Given the description of an element on the screen output the (x, y) to click on. 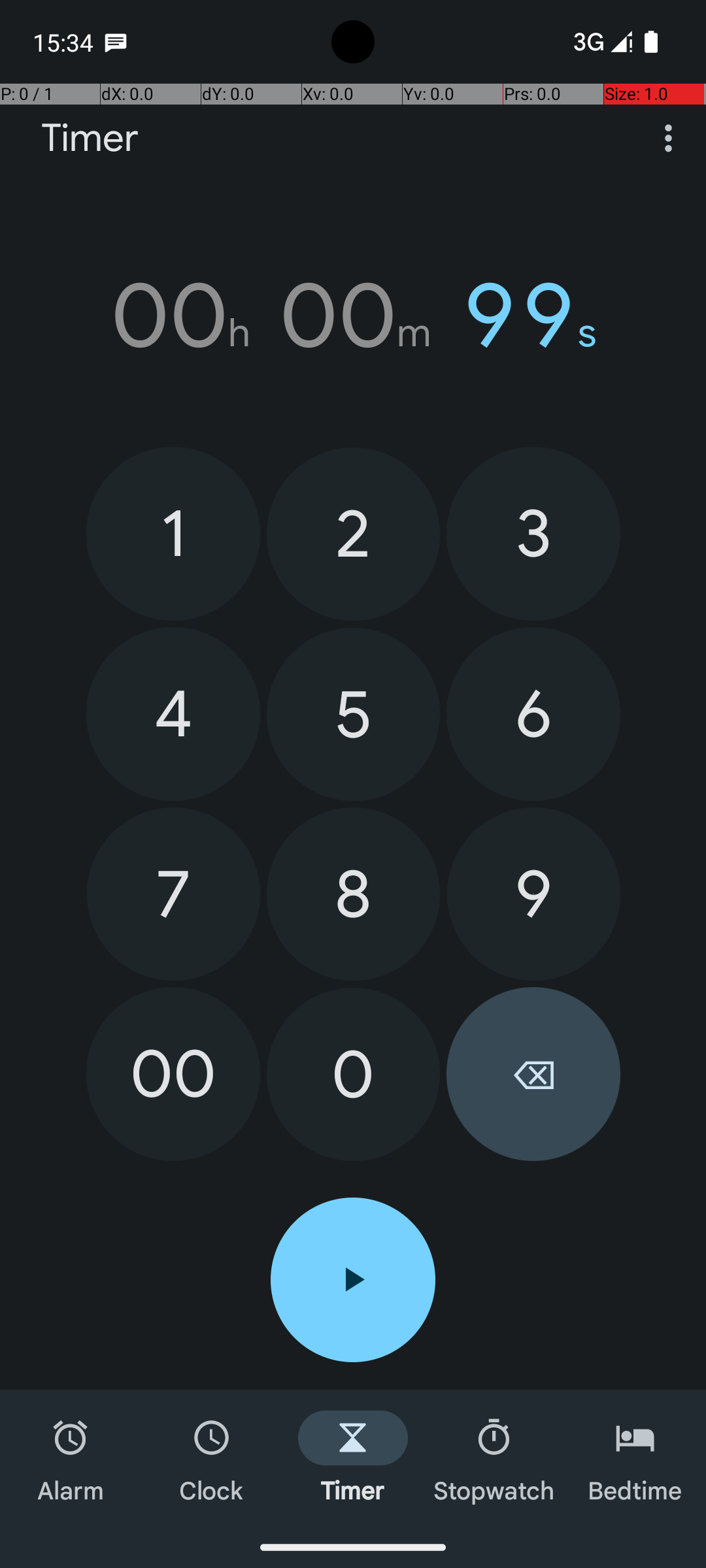
Timer Element type: android.widget.TextView (89, 138)
00h 00m 99s Element type: android.widget.TextView (353, 315)
1 Element type: android.widget.Button (173, 533)
2 Element type: android.widget.Button (352, 533)
3 Element type: android.widget.Button (533, 533)
4 Element type: android.widget.Button (173, 713)
5 Element type: android.widget.Button (352, 713)
6 Element type: android.widget.Button (533, 713)
7 Element type: android.widget.Button (173, 893)
8 Element type: android.widget.Button (352, 893)
9 Element type: android.widget.Button (533, 893)
00 Element type: android.widget.Button (173, 1073)
0 Element type: android.widget.Button (352, 1073)
⌫ Element type: android.widget.Button (533, 1073)
Start Element type: android.widget.Button (352, 1279)
Alarm Element type: android.widget.FrameLayout (70, 1457)
Stopwatch Element type: android.widget.FrameLayout (493, 1457)
Bedtime Element type: android.widget.FrameLayout (635, 1457)
